Given the description of an element on the screen output the (x, y) to click on. 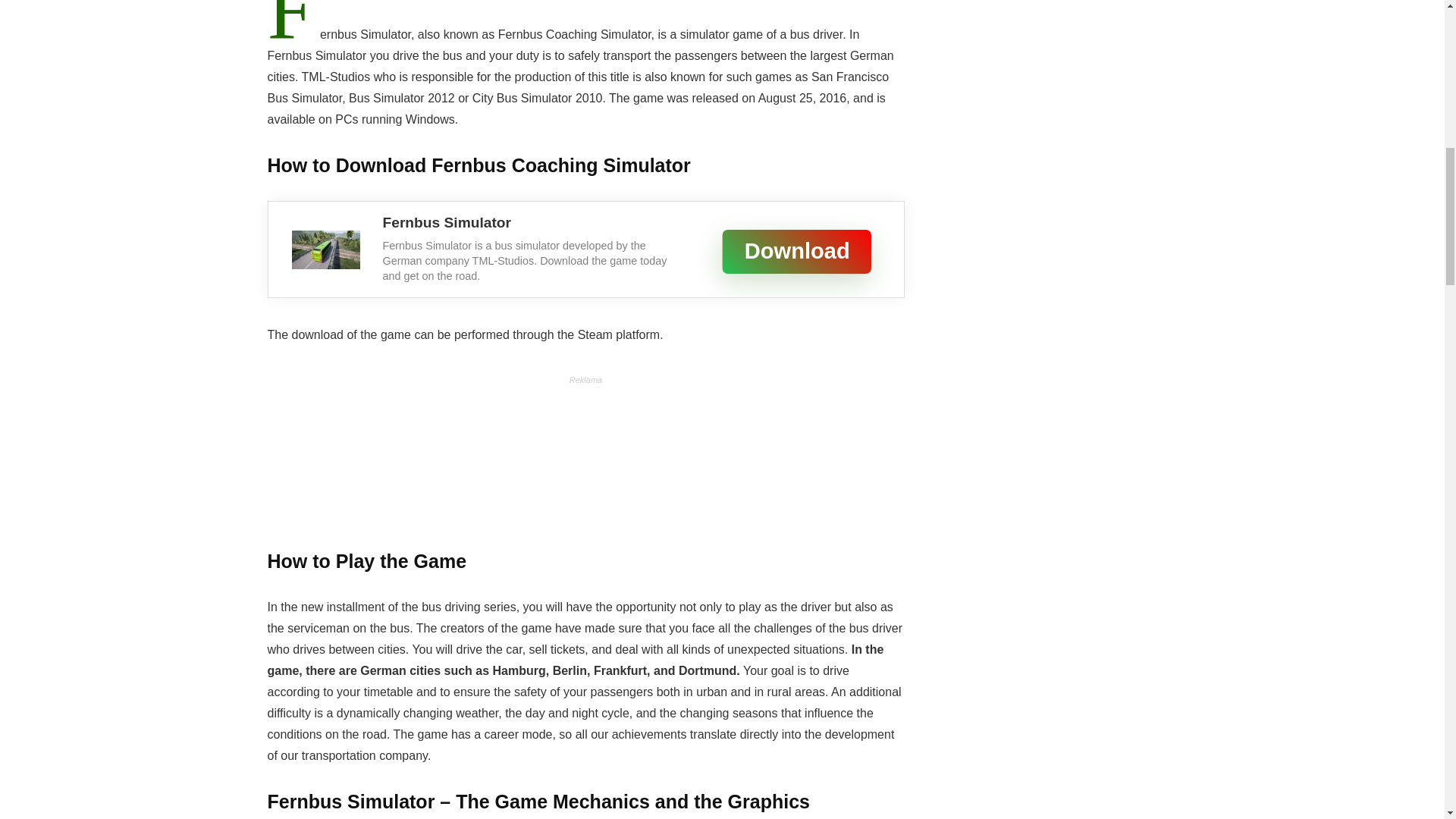
Download (763, 241)
